Given the description of an element on the screen output the (x, y) to click on. 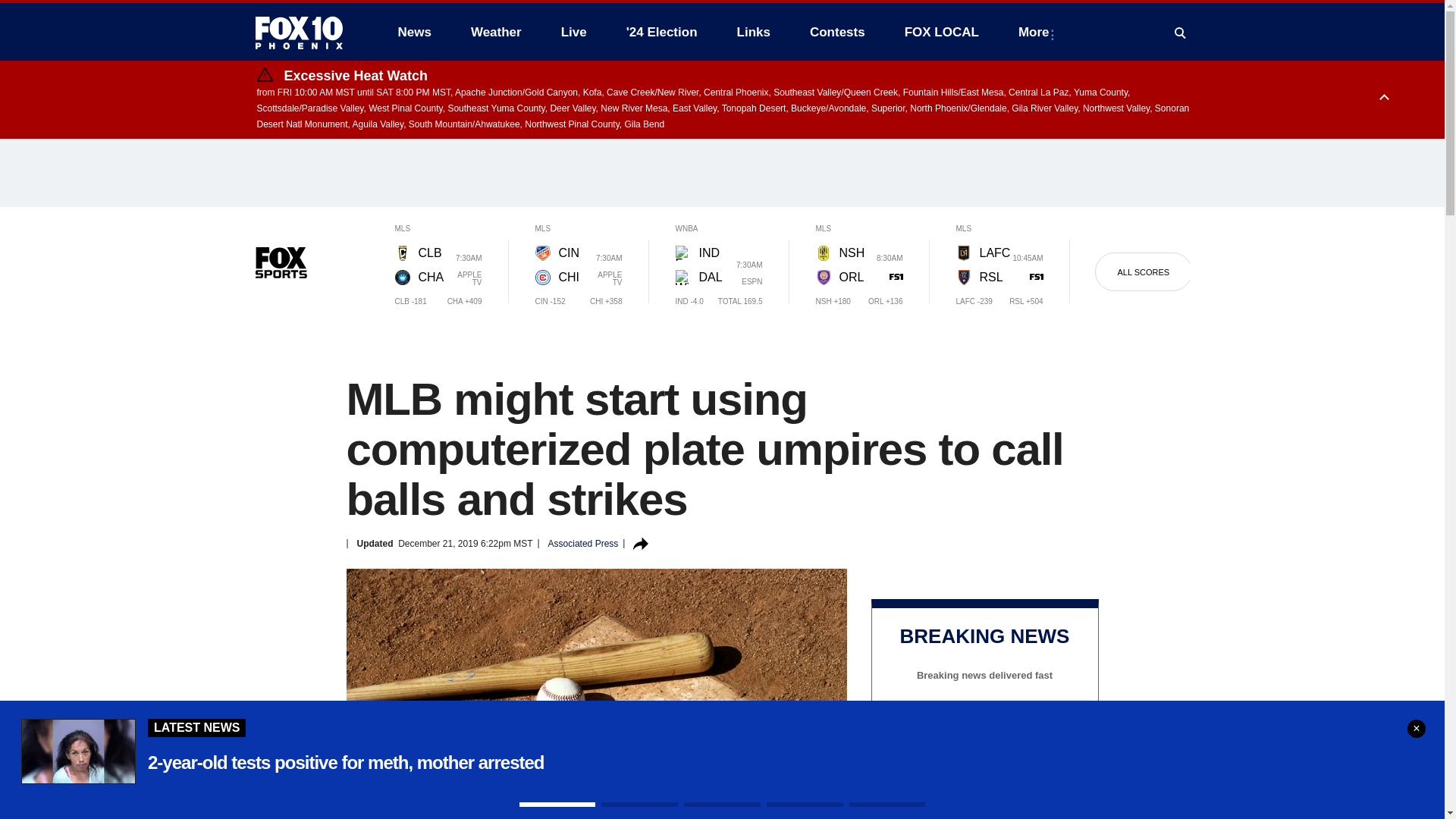
Live (573, 32)
More (1036, 32)
Contests (837, 32)
Links (754, 32)
Sign Up (984, 768)
Weather (496, 32)
FOX LOCAL (941, 32)
'24 Election (662, 32)
News (413, 32)
